Given the description of an element on the screen output the (x, y) to click on. 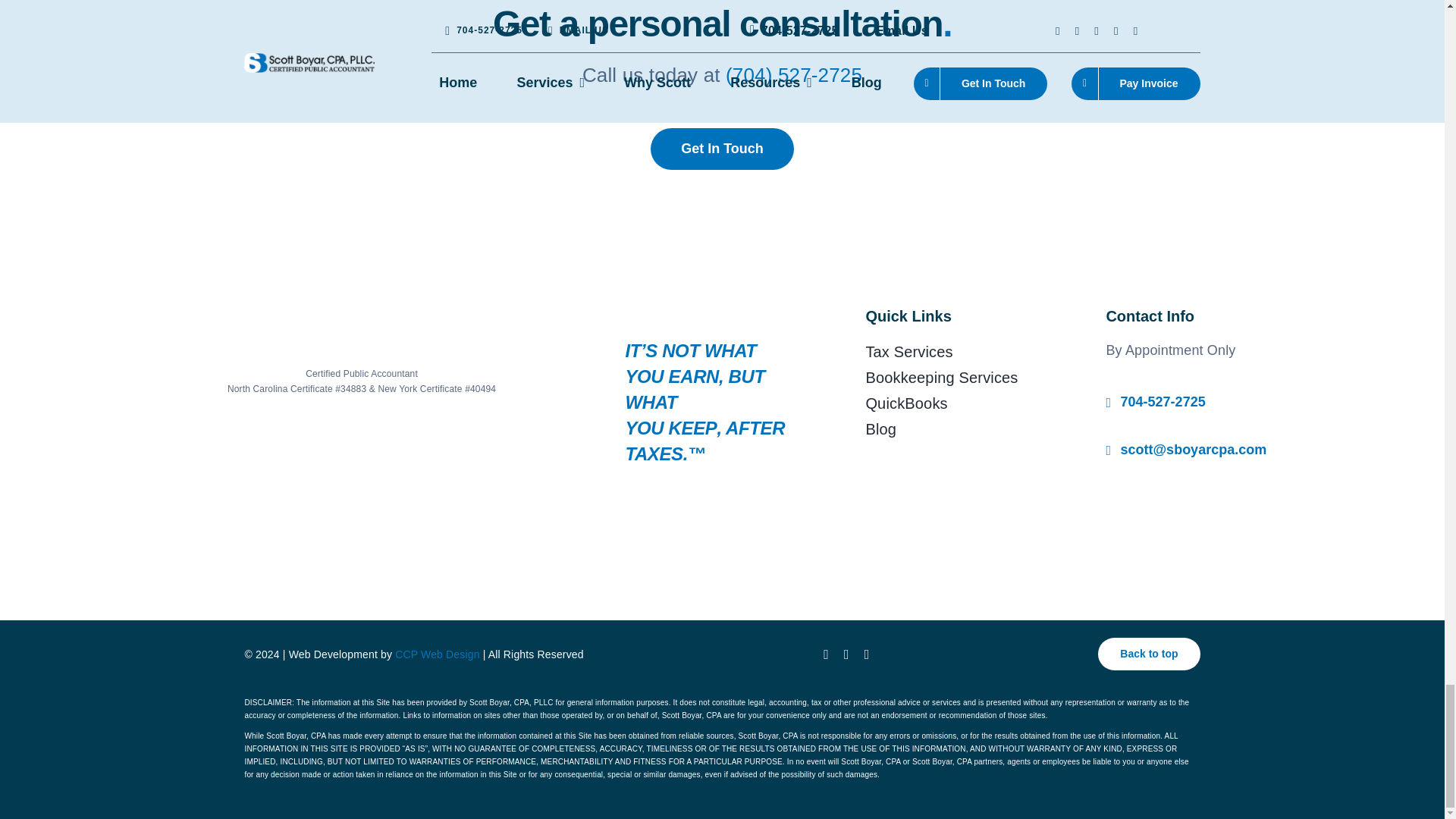
logos (361, 508)
